Given the description of an element on the screen output the (x, y) to click on. 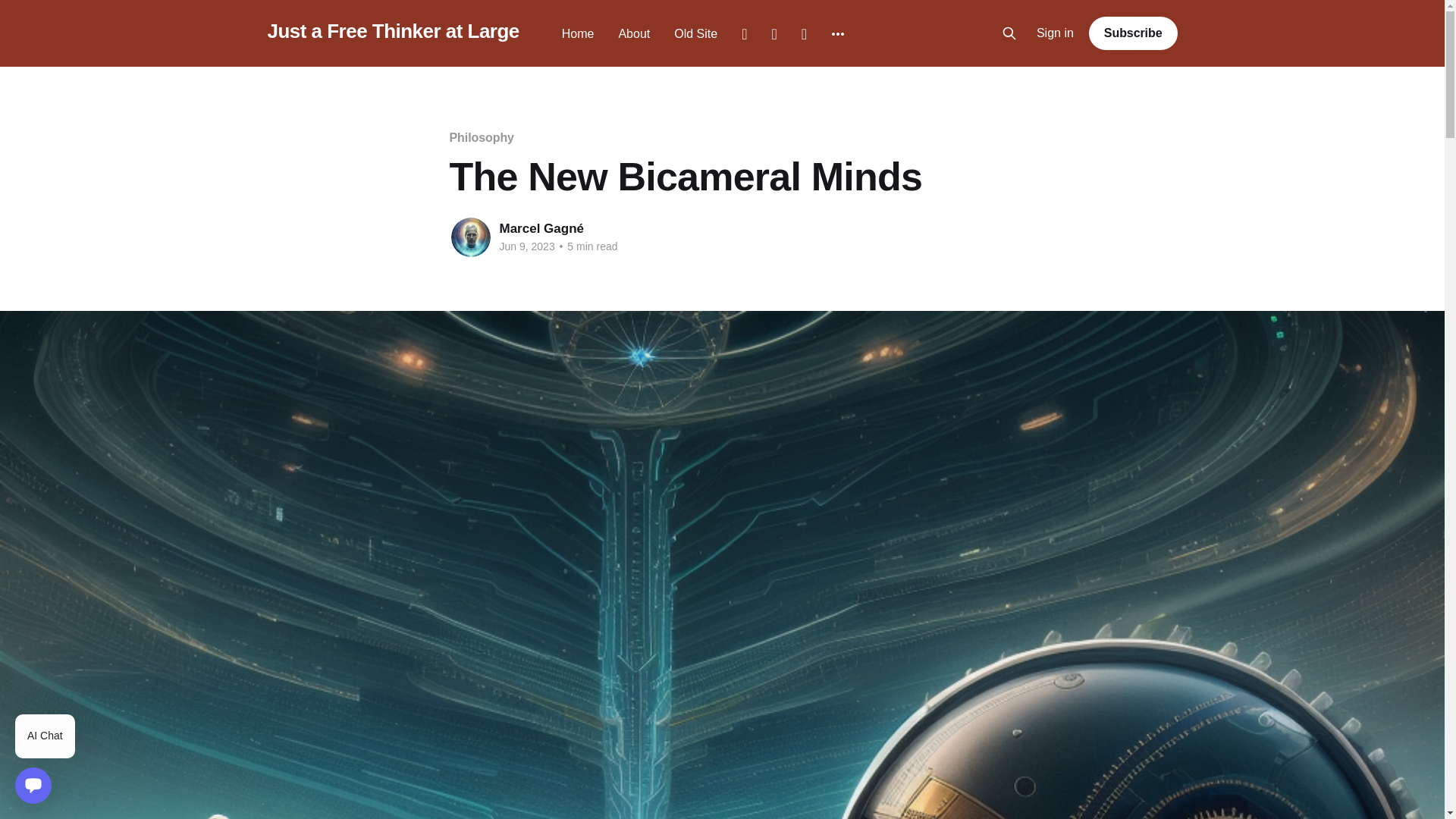
Philosophy (480, 137)
Sign in (1055, 33)
Old Site (695, 33)
Subscribe (1133, 32)
Home (578, 33)
About (633, 33)
Just a Free Thinker at Large (392, 31)
